Given the description of an element on the screen output the (x, y) to click on. 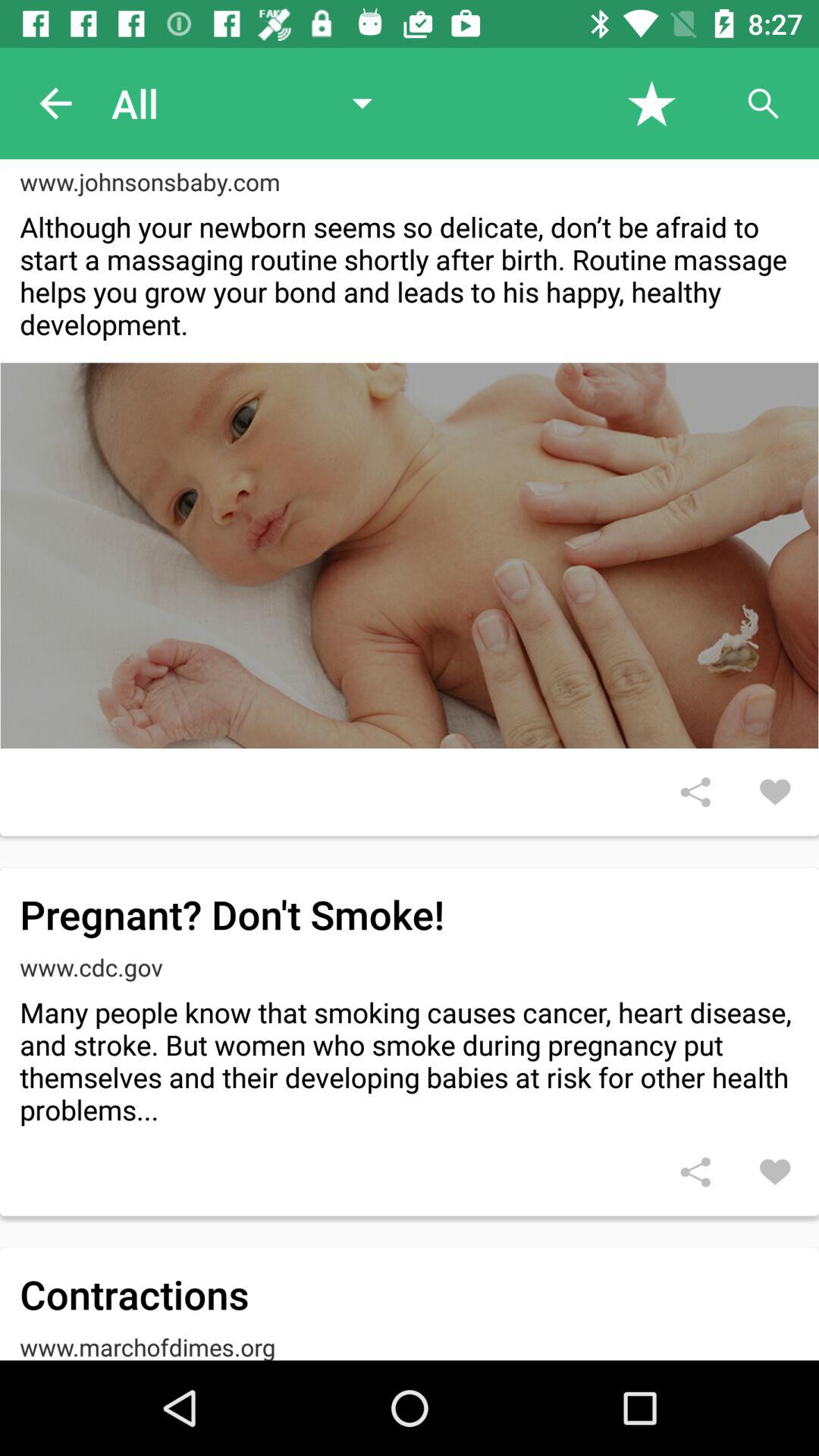
search option (763, 103)
